Given the description of an element on the screen output the (x, y) to click on. 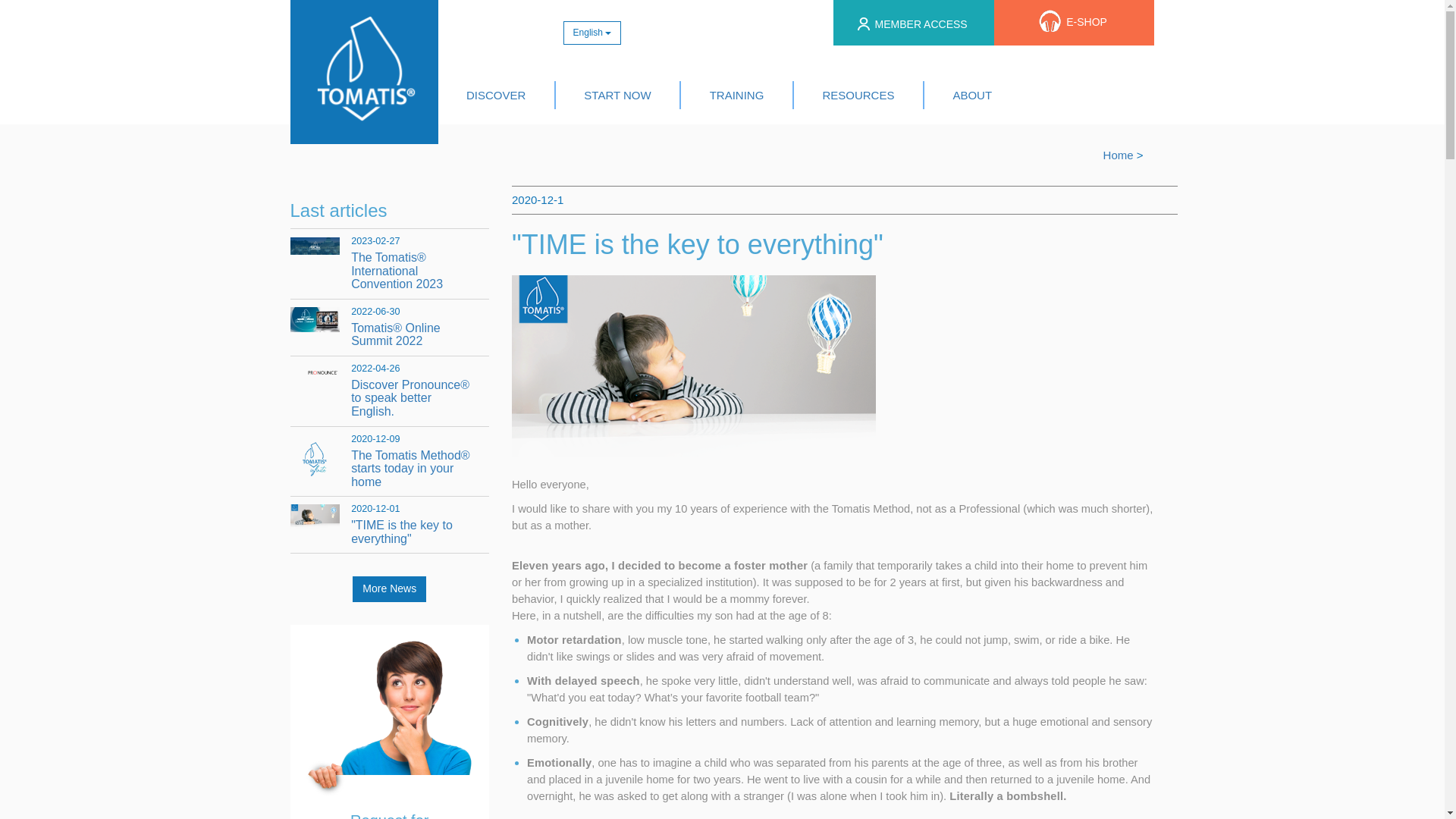
MEMBER ACCESS (912, 25)
START NOW (617, 94)
TRAINING (736, 94)
ABOUT (972, 94)
DISCOVER (496, 94)
English (592, 33)
RESOURCES (858, 94)
